Given the description of an element on the screen output the (x, y) to click on. 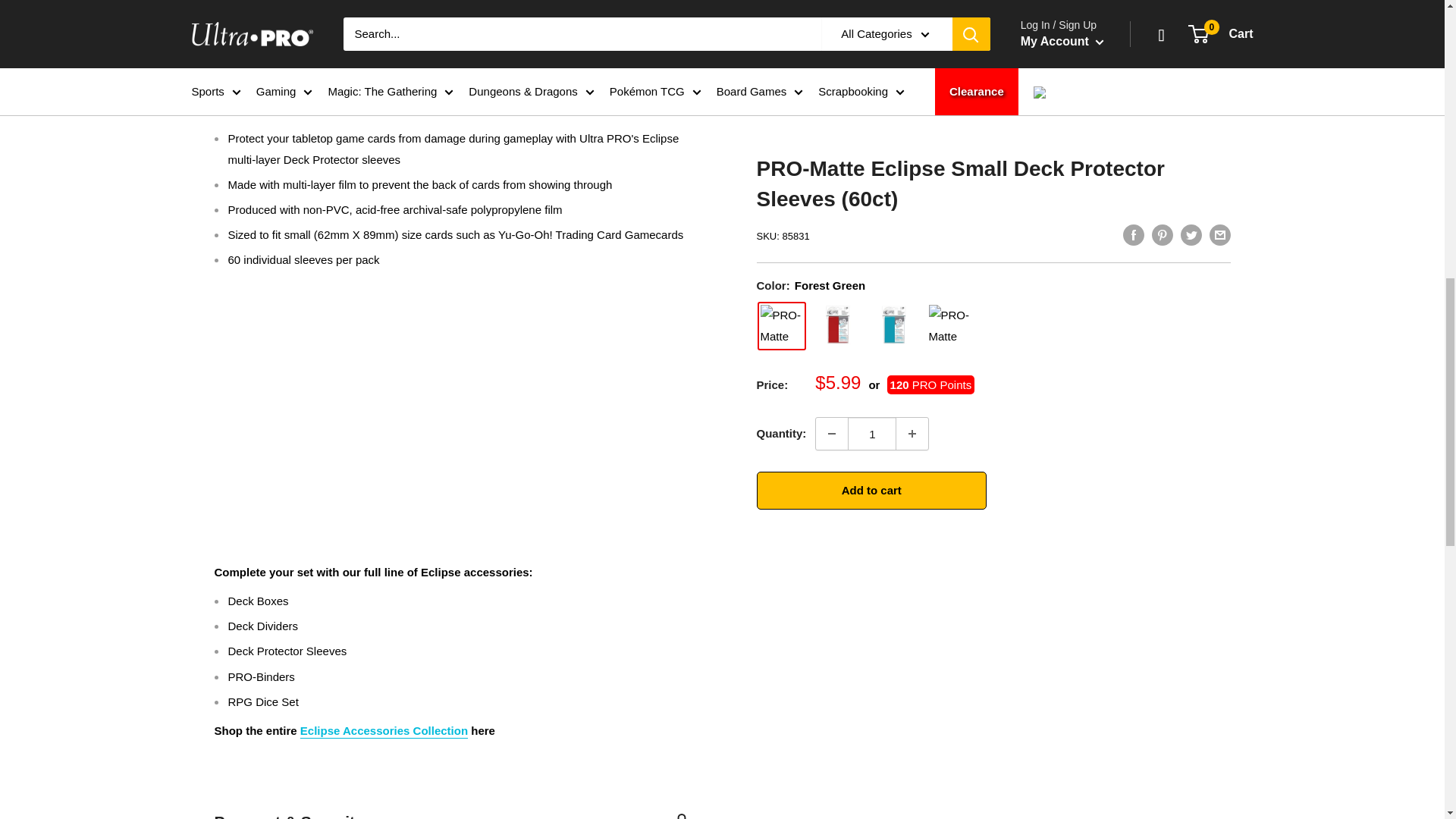
YouTube video player (426, 398)
